Given the description of an element on the screen output the (x, y) to click on. 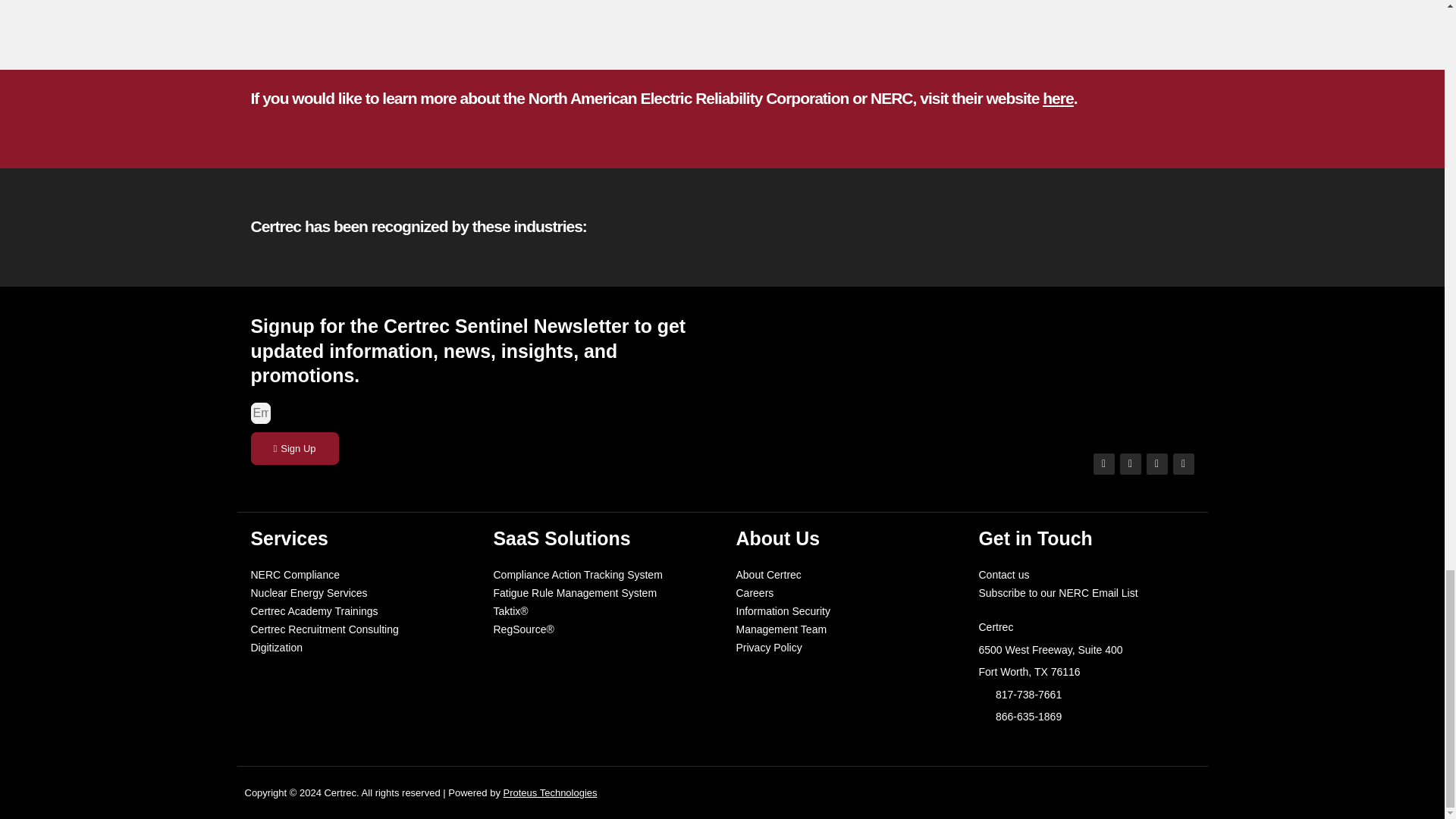
Certrec-Logo-v3-White (1084, 370)
